Given the description of an element on the screen output the (x, y) to click on. 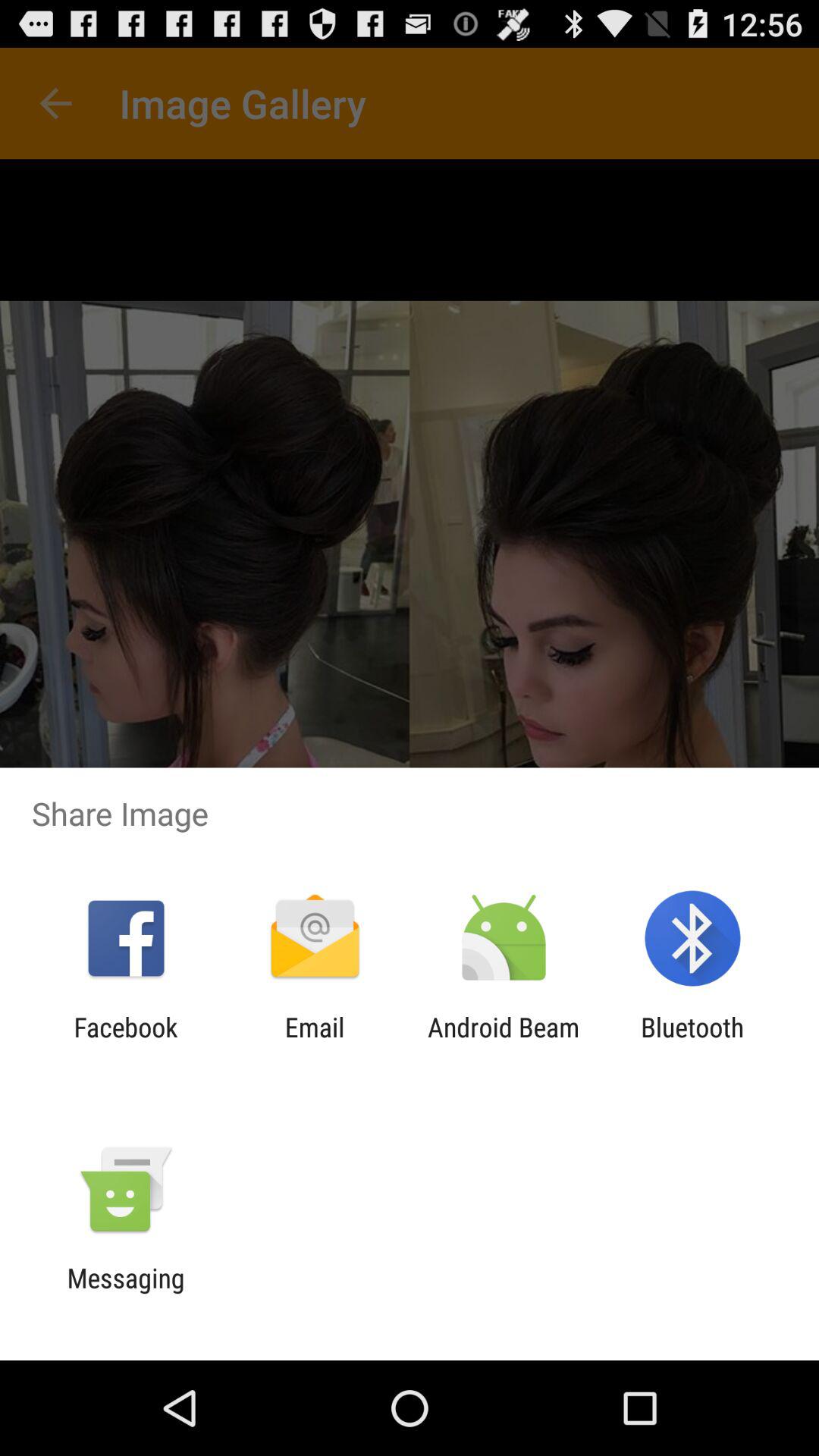
swipe to android beam icon (503, 1042)
